Given the description of an element on the screen output the (x, y) to click on. 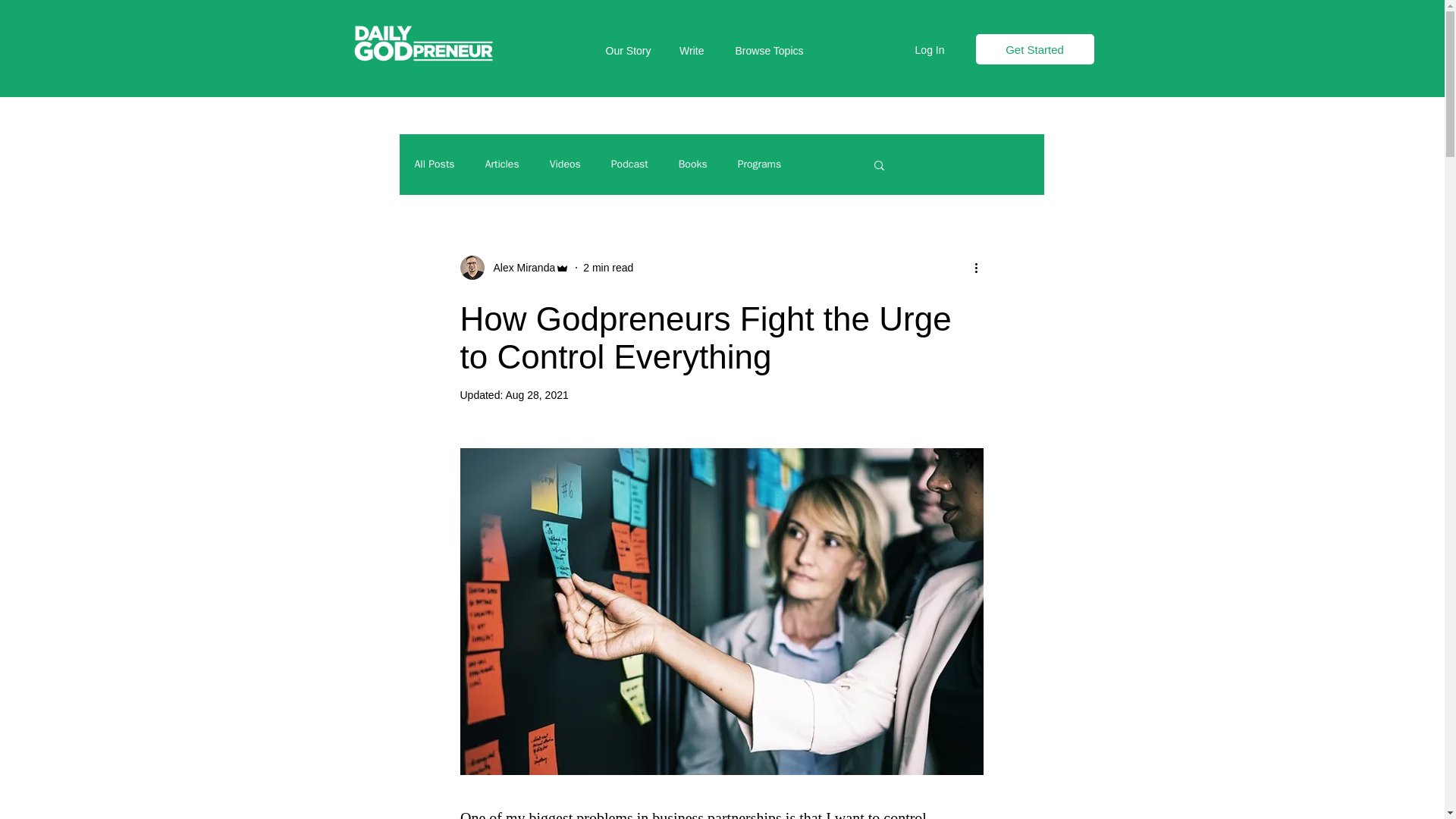
All Posts (433, 164)
Alex Miranda (518, 267)
Books (692, 164)
2 min read (608, 266)
Videos (565, 164)
Aug 28, 2021 (536, 395)
Our Story (624, 50)
Articles (501, 164)
Log In (929, 50)
Get Started (1034, 49)
Podcast (629, 164)
Programs (759, 164)
Alex Miranda (514, 267)
Write (689, 50)
